Given the description of an element on the screen output the (x, y) to click on. 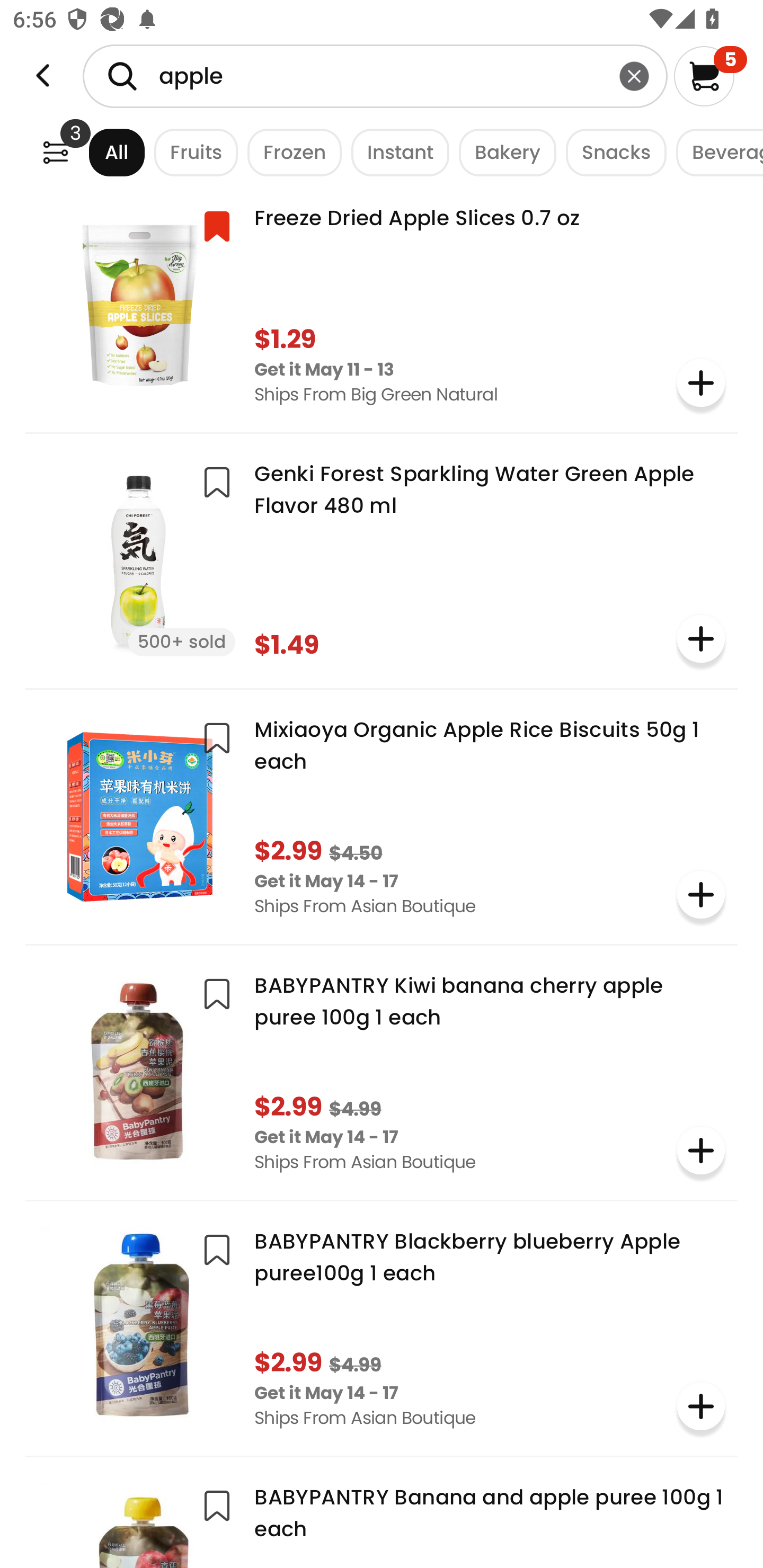
apple (374, 75)
5 (709, 75)
Weee! (42, 76)
Weee! (55, 151)
All (99, 151)
Fruits (191, 151)
Frozen (289, 151)
Instant (395, 151)
Bakery (502, 151)
Snacks (611, 151)
Beverages (714, 151)
BABYPANTRY Banana and apple puree 100g 1 each (381, 1519)
